Given the description of an element on the screen output the (x, y) to click on. 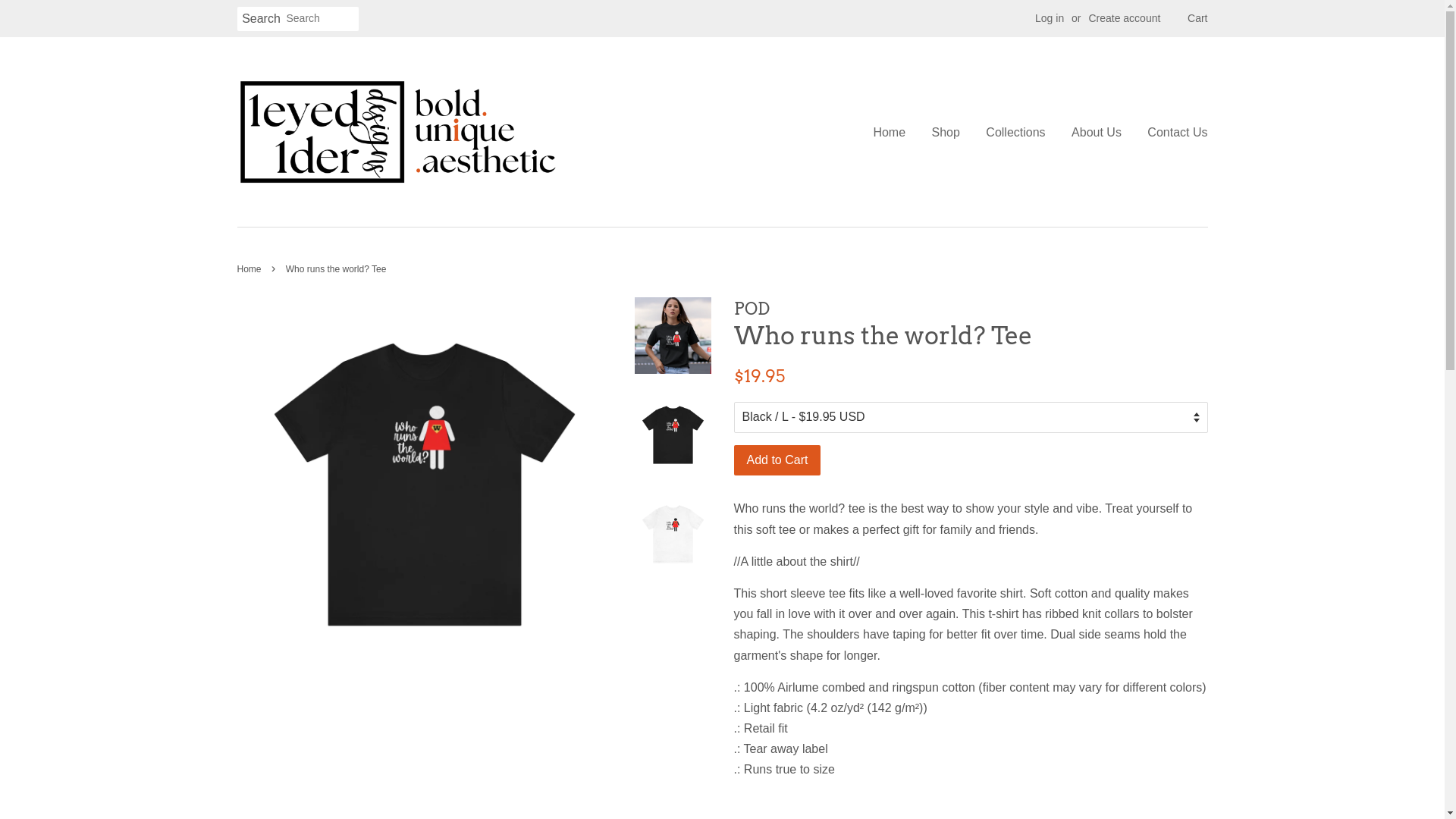
Collections Element type: text (1015, 131)
Create account Element type: text (1124, 18)
About Us Element type: text (1096, 131)
Shop Element type: text (945, 131)
Cart Element type: text (1197, 18)
Search Element type: text (260, 18)
Add to Cart Element type: text (777, 460)
Home Element type: text (250, 268)
Home Element type: text (894, 131)
Log in Element type: text (1049, 18)
Contact Us Element type: text (1171, 131)
